Given the description of an element on the screen output the (x, y) to click on. 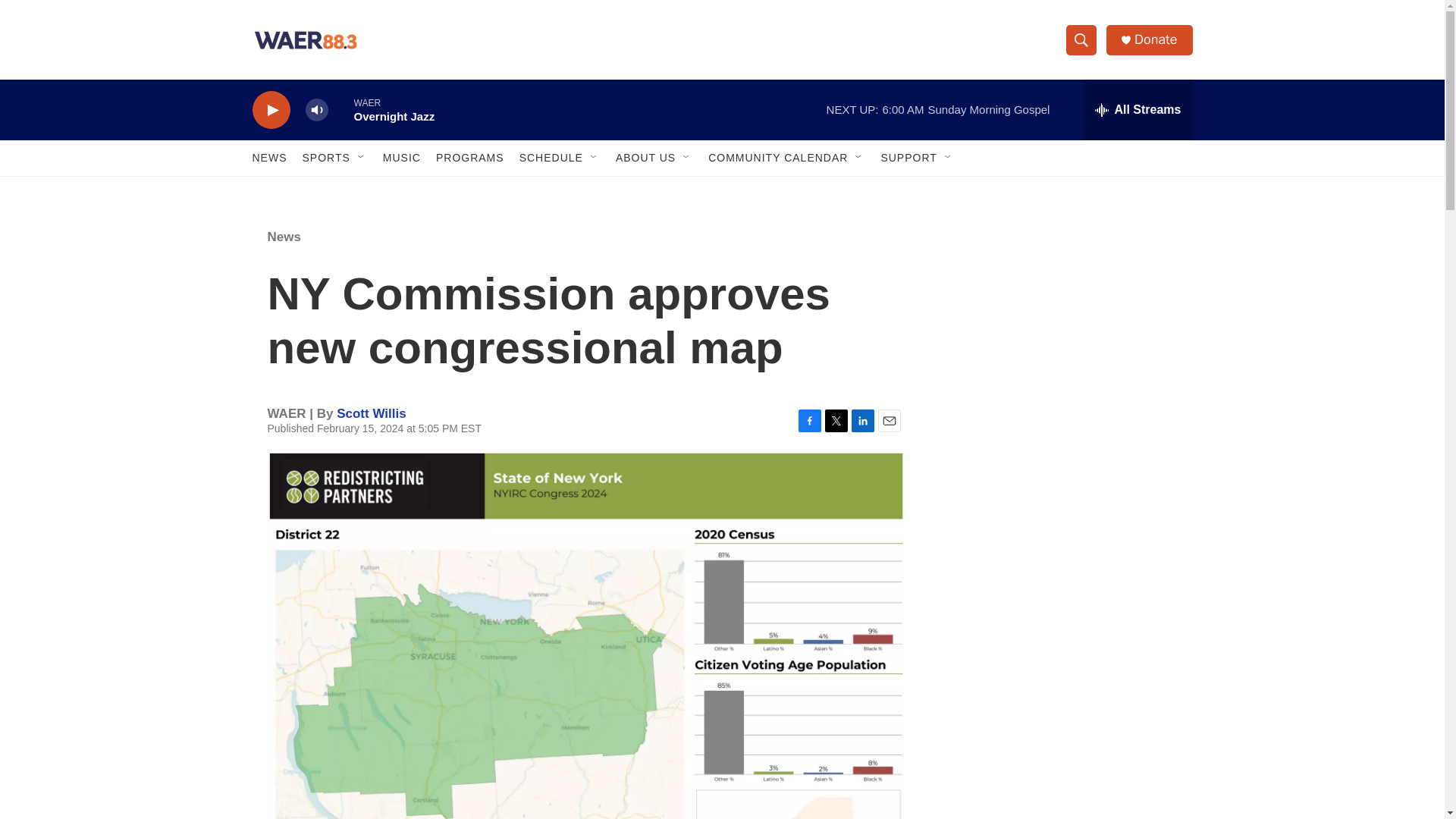
3rd party ad content (1062, 316)
3rd party ad content (1062, 740)
3rd party ad content (1062, 536)
